Given the description of an element on the screen output the (x, y) to click on. 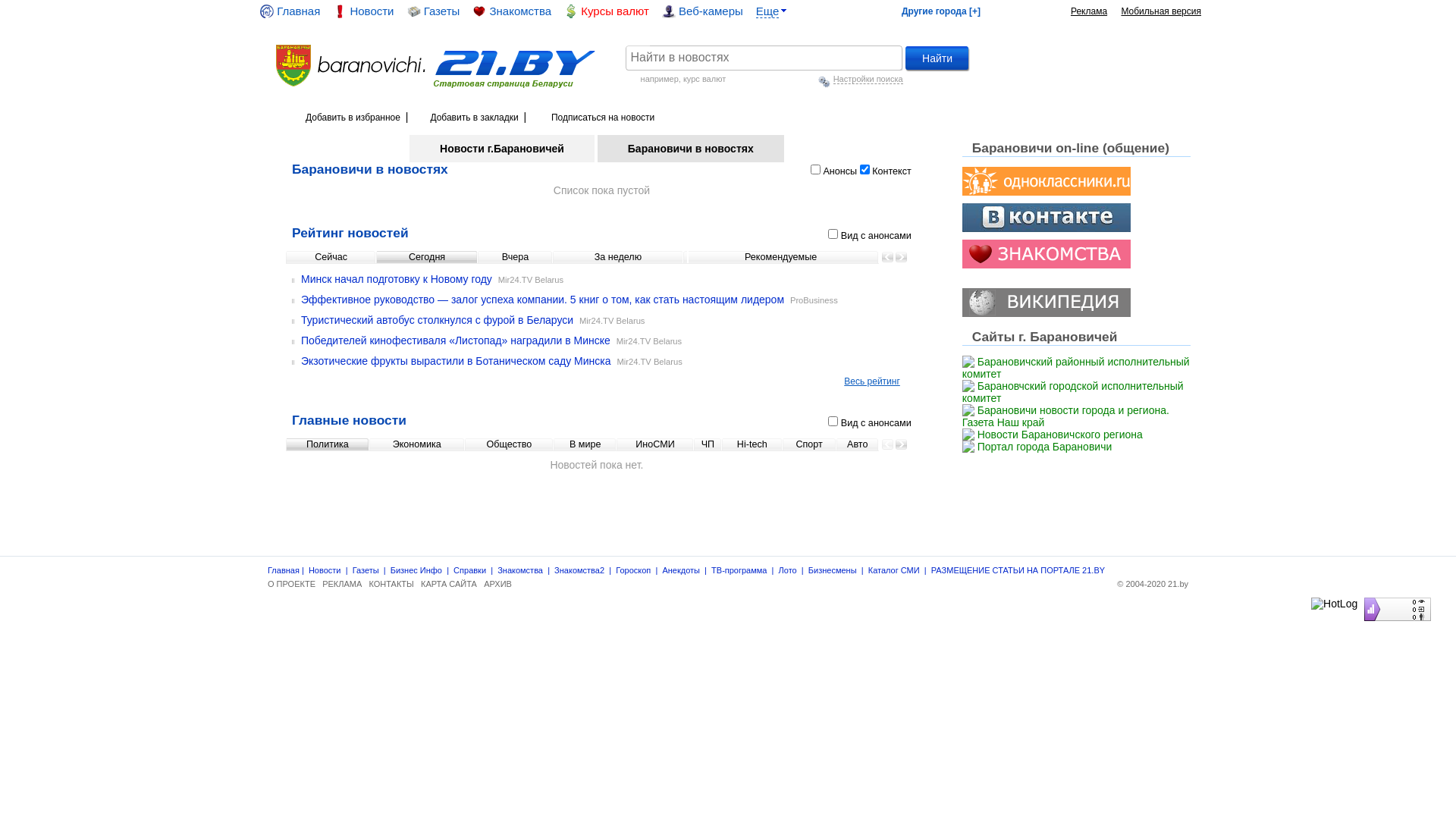
Mir24.TV Belarus Element type: text (648, 361)
ProBusiness Element type: text (813, 299)
Hi-tech Element type: text (751, 444)
  Element type: text (351, 50)
Mir24.TV Belarus Element type: text (611, 320)
LiveInternet Element type: hover (1360, 597)
Mir24.TV Belarus Element type: text (648, 340)
Mir24.TV Belarus Element type: text (530, 279)
